Given the description of an element on the screen output the (x, y) to click on. 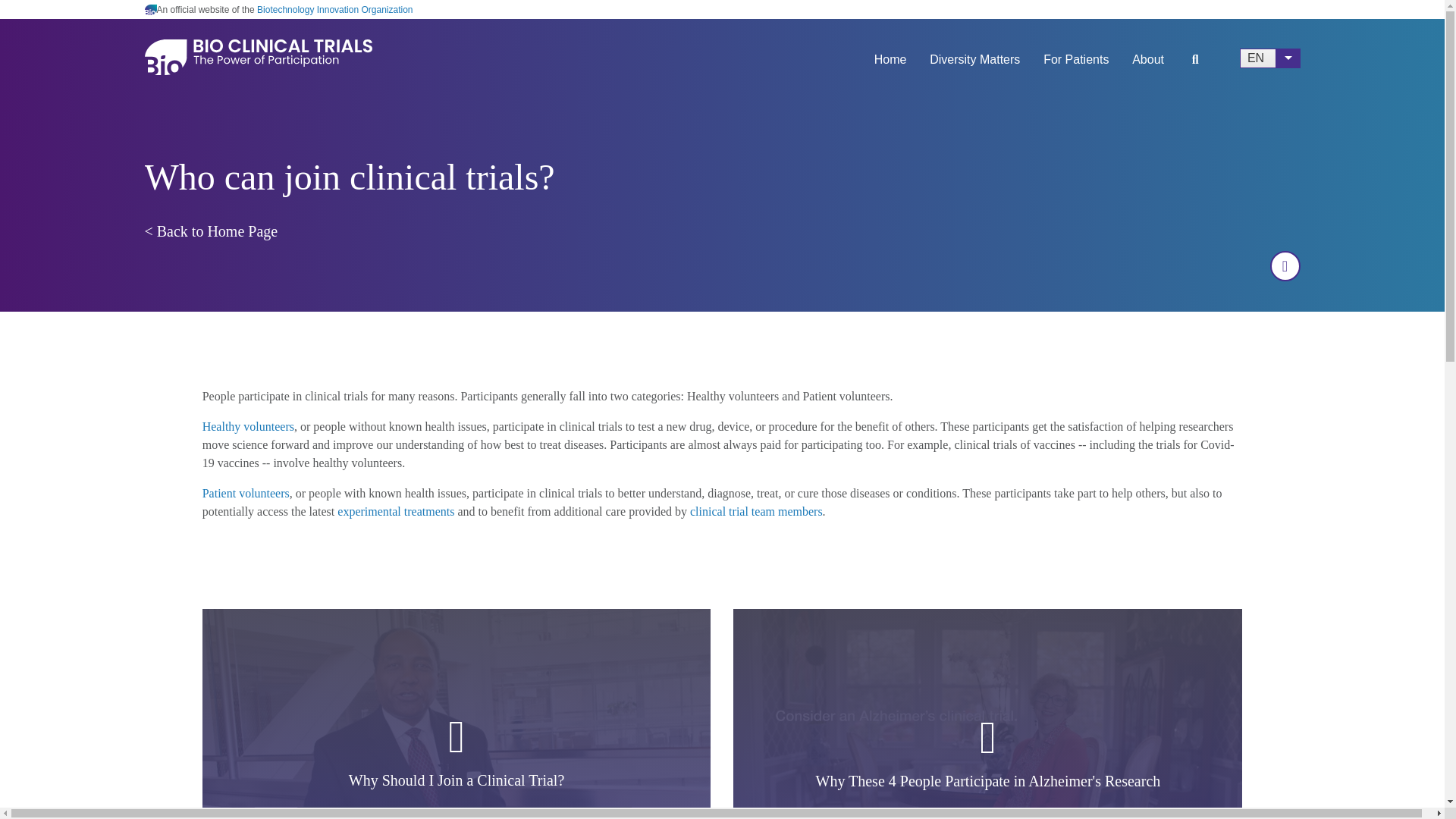
clinical trial team members (756, 511)
For Patients (1075, 66)
Diversity Matters (974, 66)
Patient volunteers (245, 492)
About (1147, 66)
Home (890, 66)
Biotechnology Innovation Organization (334, 9)
Healthy volunteers (248, 426)
CTPoP (211, 230)
Skip to main content (721, 1)
experimental treatments (395, 511)
